Given the description of an element on the screen output the (x, y) to click on. 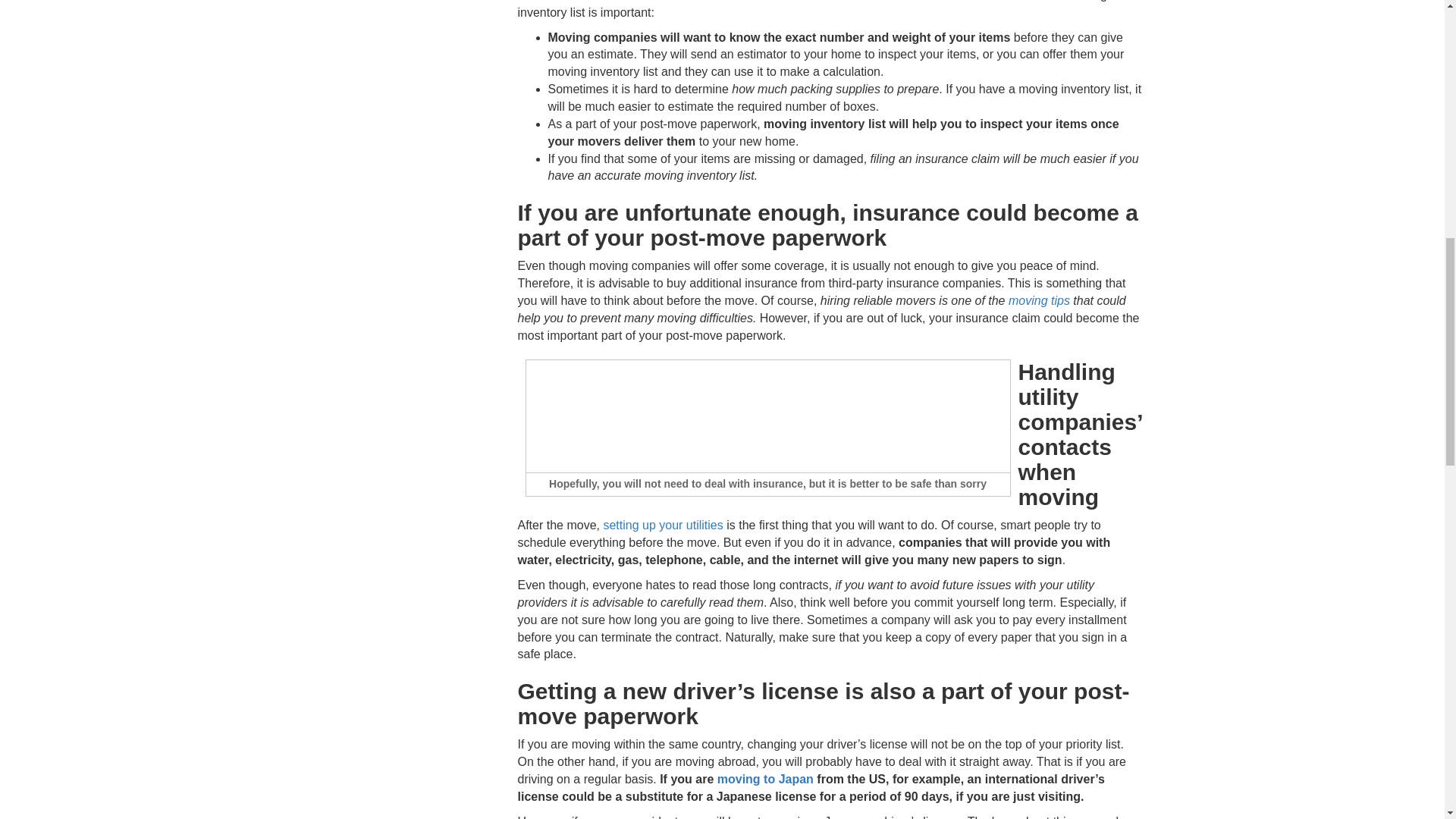
moving to Japan (765, 779)
setting up your utilities (662, 524)
moving tips (1039, 300)
